Given the description of an element on the screen output the (x, y) to click on. 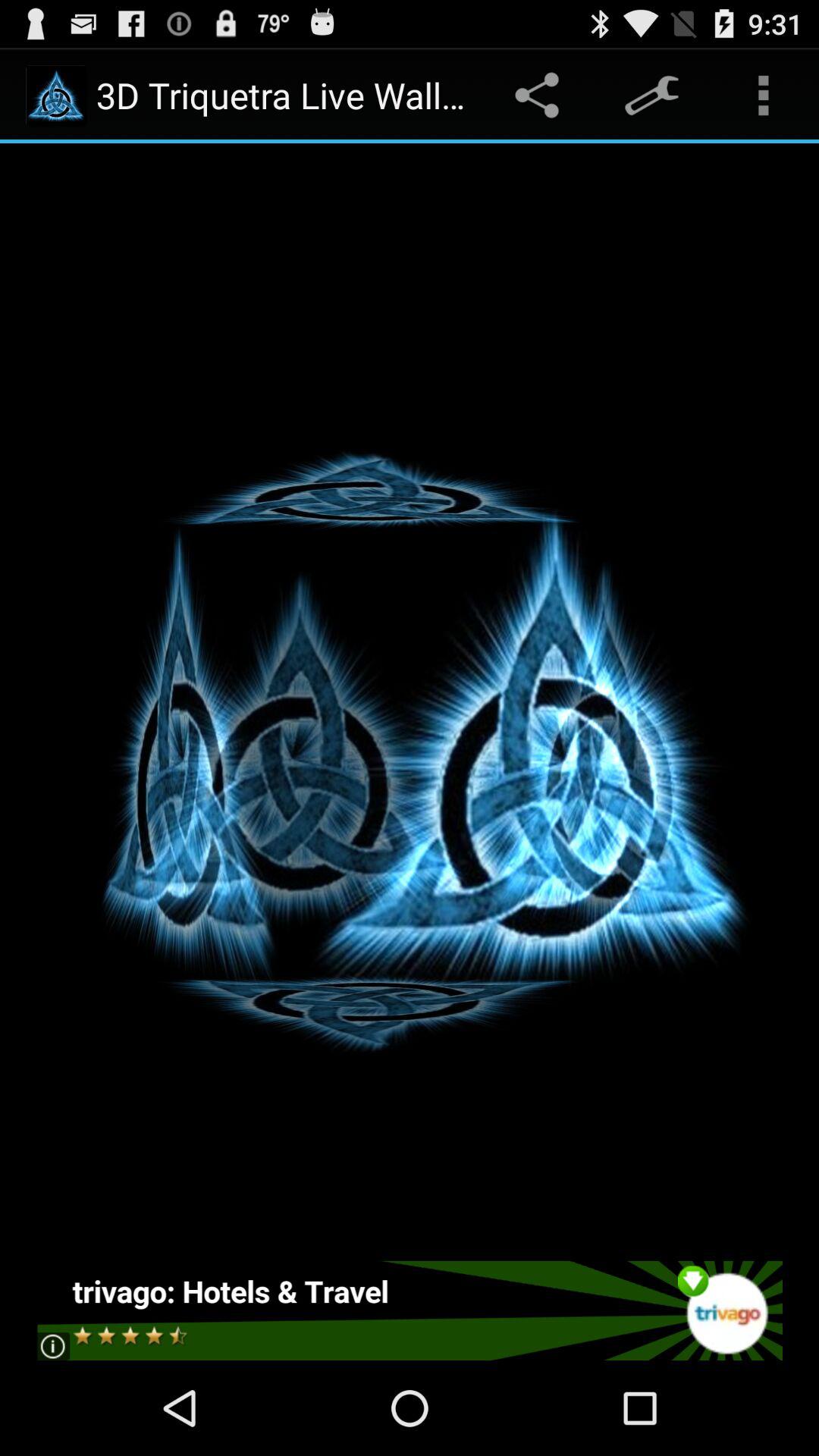
go to app (409, 1310)
